Given the description of an element on the screen output the (x, y) to click on. 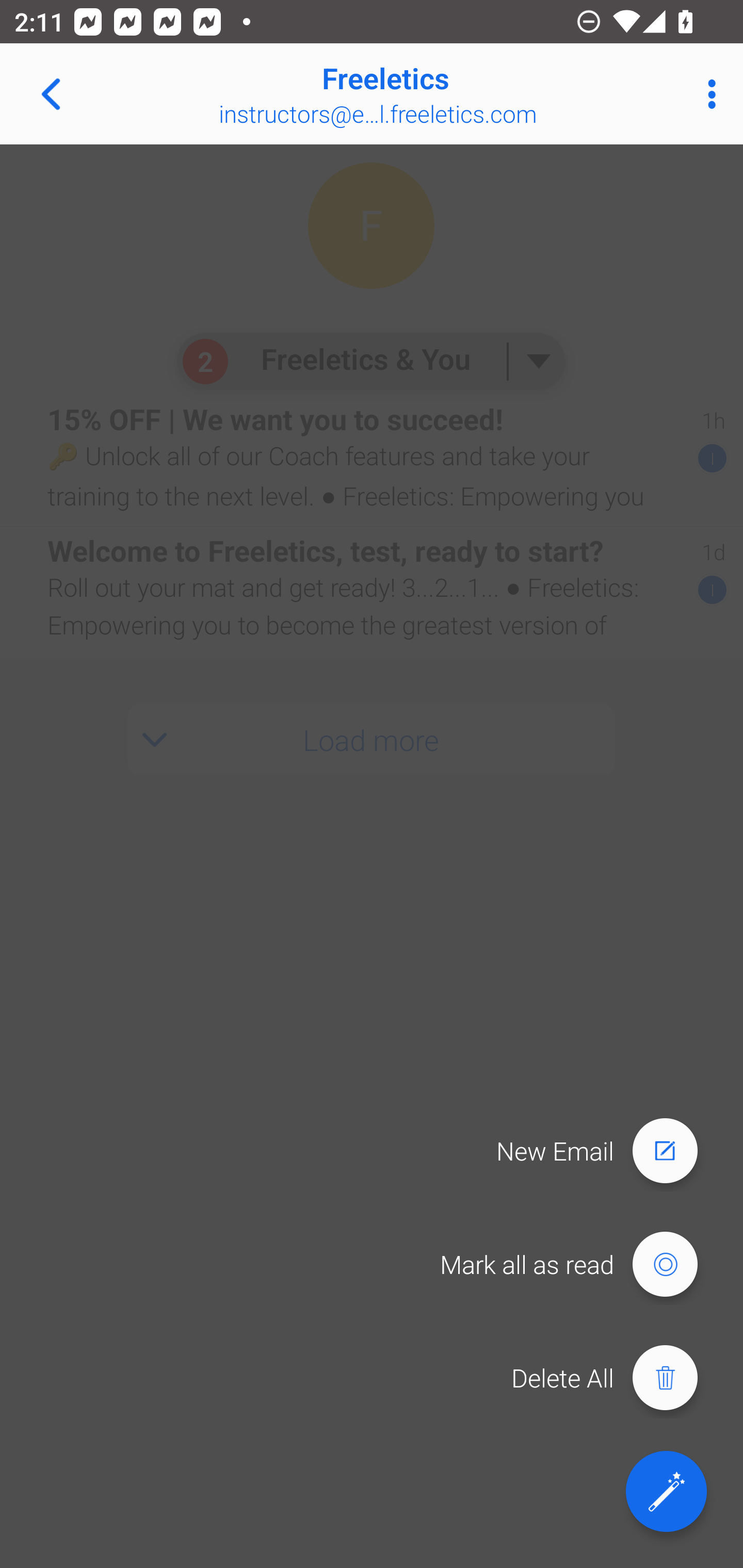
Navigate up (50, 93)
Freeletics instructors@email.freeletics.com (436, 93)
More Options (706, 93)
New Email (606, 1150)
Mark all as read (577, 1264)
Delete All (613, 1378)
